Given the description of an element on the screen output the (x, y) to click on. 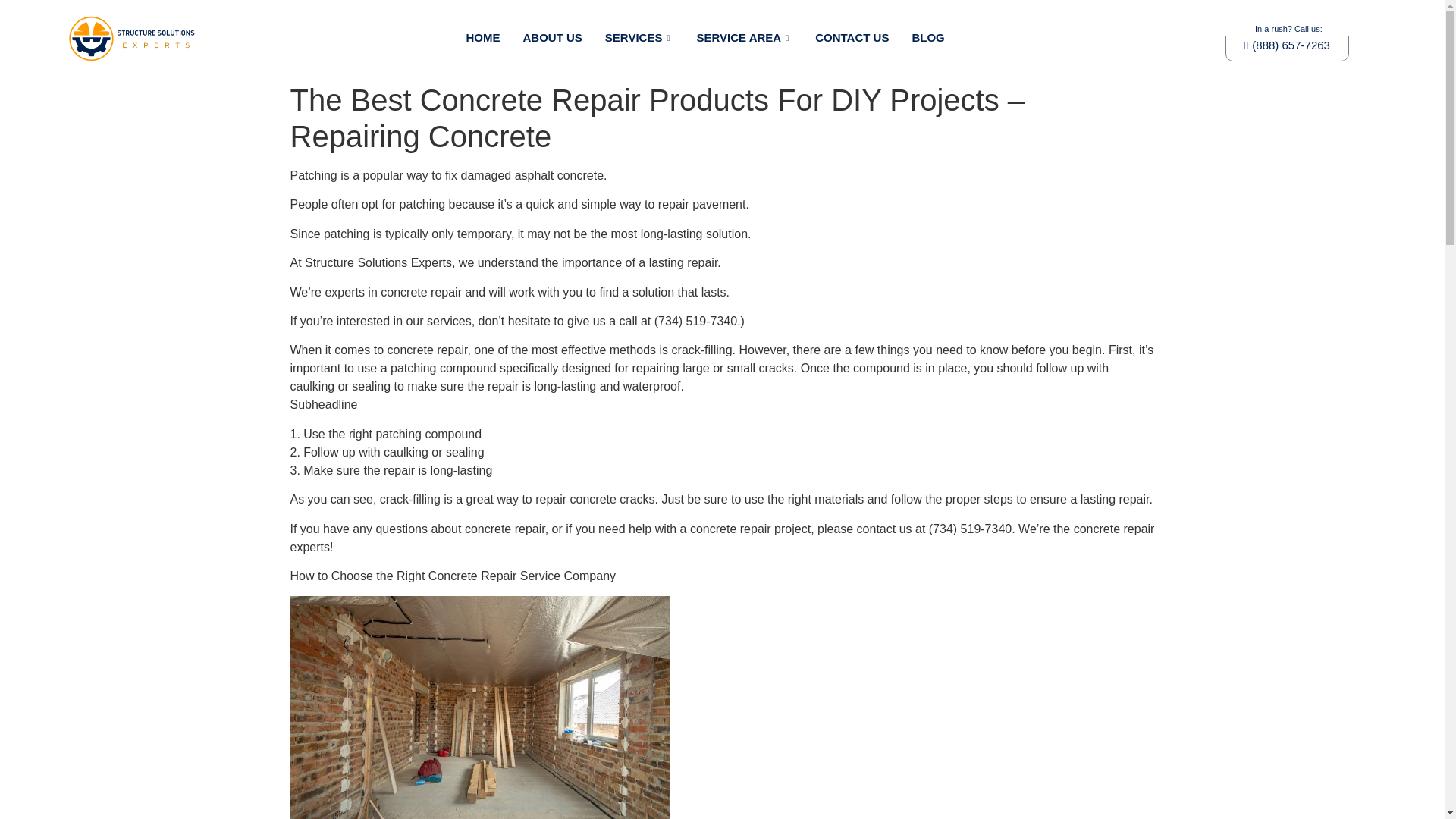
SERVICES (639, 37)
DIY Guide to Fixing Concrete Cracks -  Concrete Refinishing (478, 707)
ABOUT US (551, 37)
CONTACT US (851, 37)
SERVICE AREA (743, 37)
HOME (483, 37)
BLOG (927, 37)
